Given the description of an element on the screen output the (x, y) to click on. 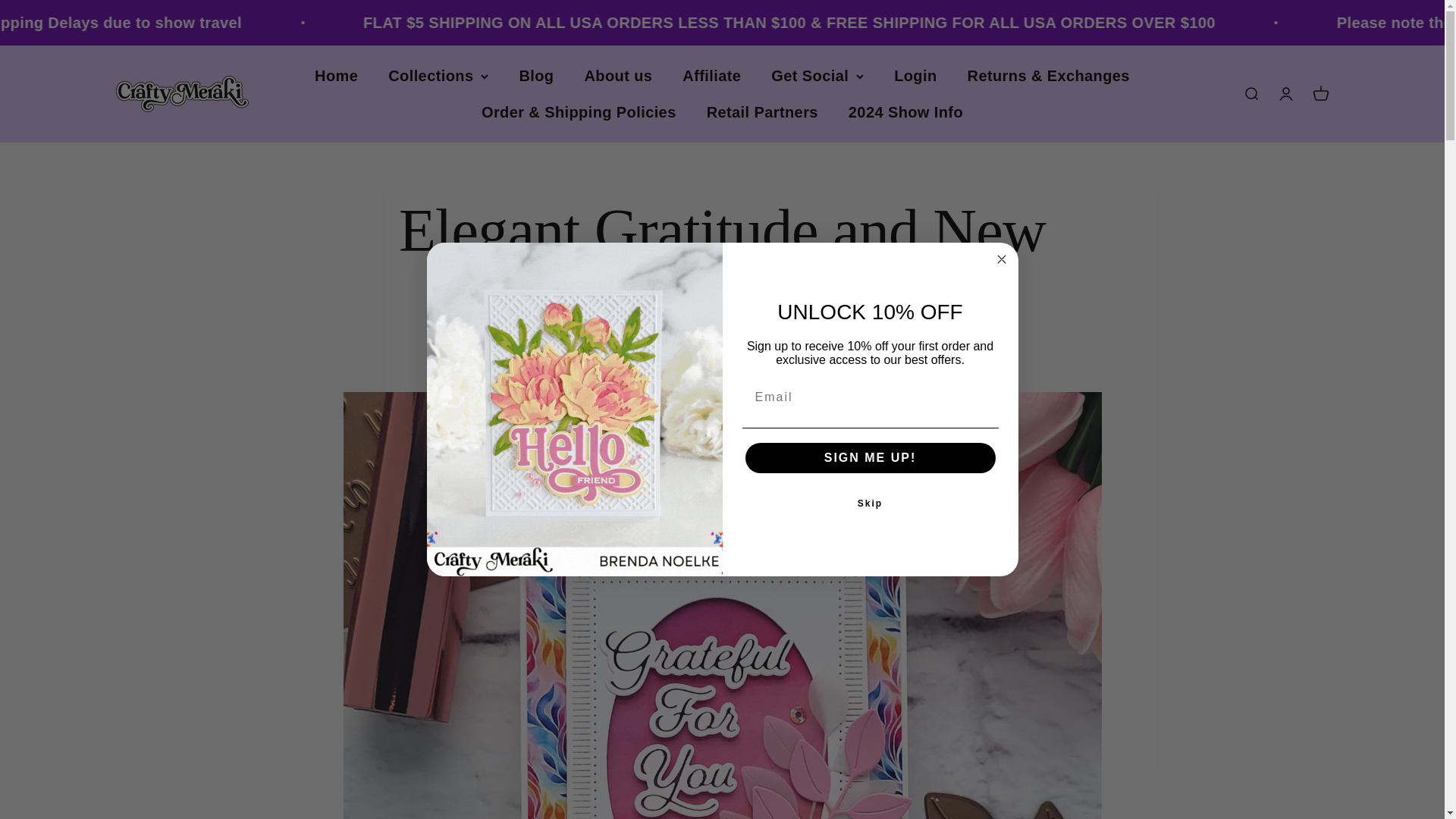
Open account page (1285, 93)
Home (336, 75)
Open search (1250, 93)
Please note there are Shipping Delays due to show travel (368, 22)
Blog (535, 75)
Crafty Meraki (181, 94)
Retail Partners (762, 112)
Login (1319, 93)
Affiliate (914, 75)
